Given the description of an element on the screen output the (x, y) to click on. 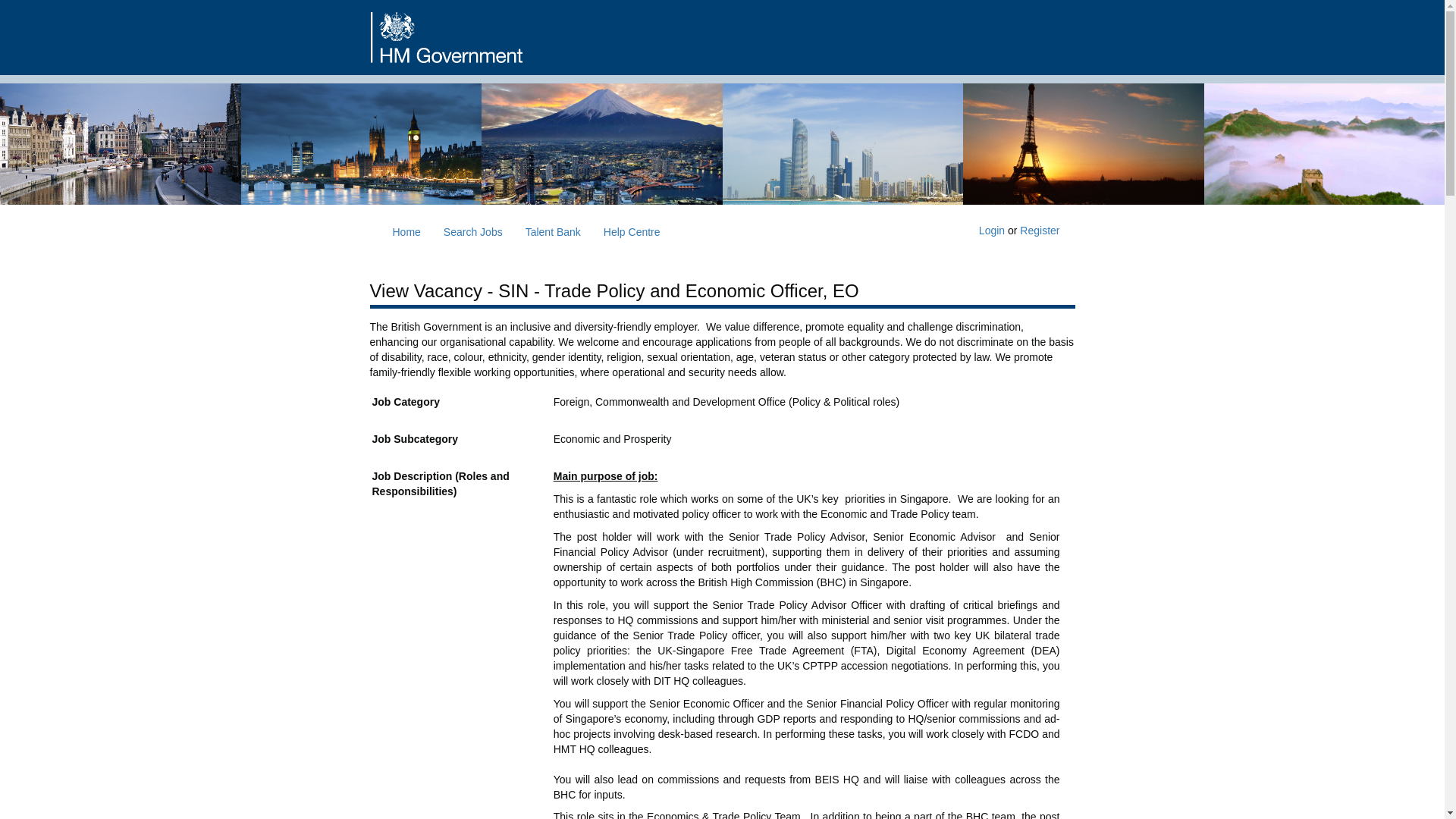
Login (991, 230)
Help Centre (631, 231)
Register (1039, 230)
Search Jobs (472, 231)
Talent Bank (552, 231)
Home (405, 231)
